Given the description of an element on the screen output the (x, y) to click on. 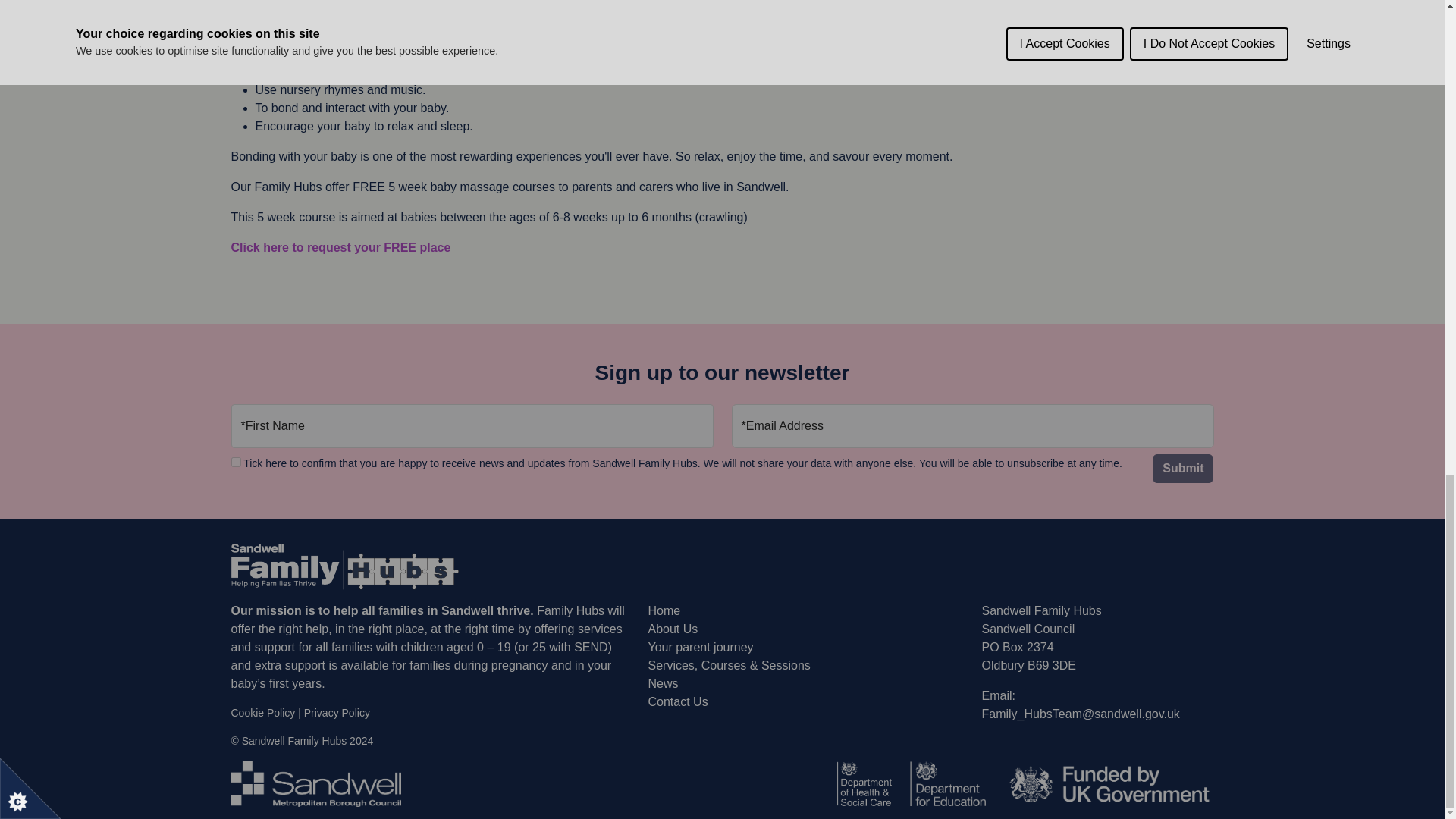
Cookie Policy (262, 712)
true (235, 461)
Click here to request your FREE place  (341, 246)
Your parent journey (699, 646)
About Us (672, 628)
Privacy Policy (336, 712)
Contact Us (677, 701)
Submit (1182, 468)
News (662, 683)
Home (663, 610)
